Given the description of an element on the screen output the (x, y) to click on. 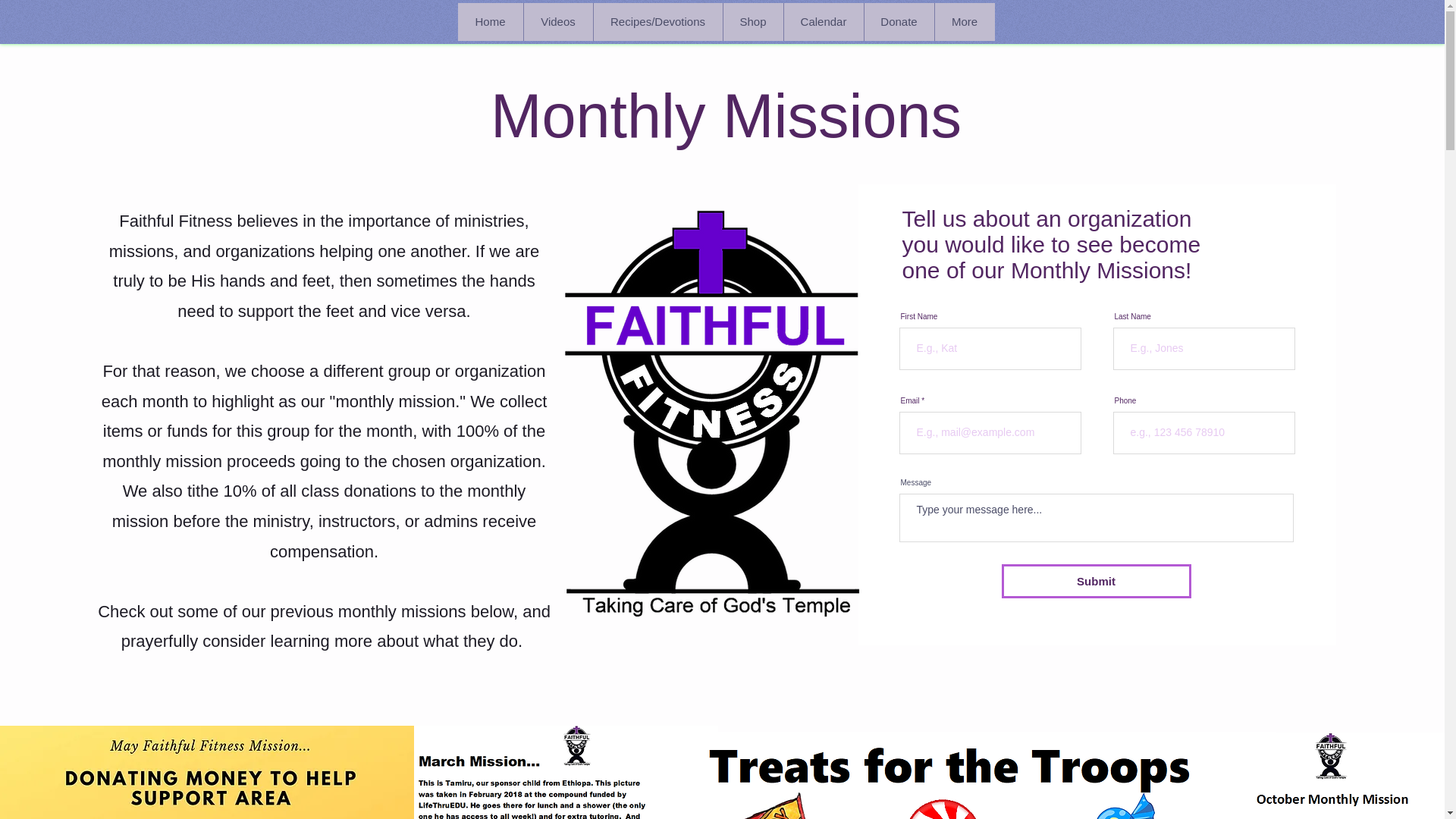
Shop (752, 21)
Submit (1096, 581)
Calendar (823, 21)
Donate (898, 21)
Home (490, 21)
Videos (557, 21)
